Given the description of an element on the screen output the (x, y) to click on. 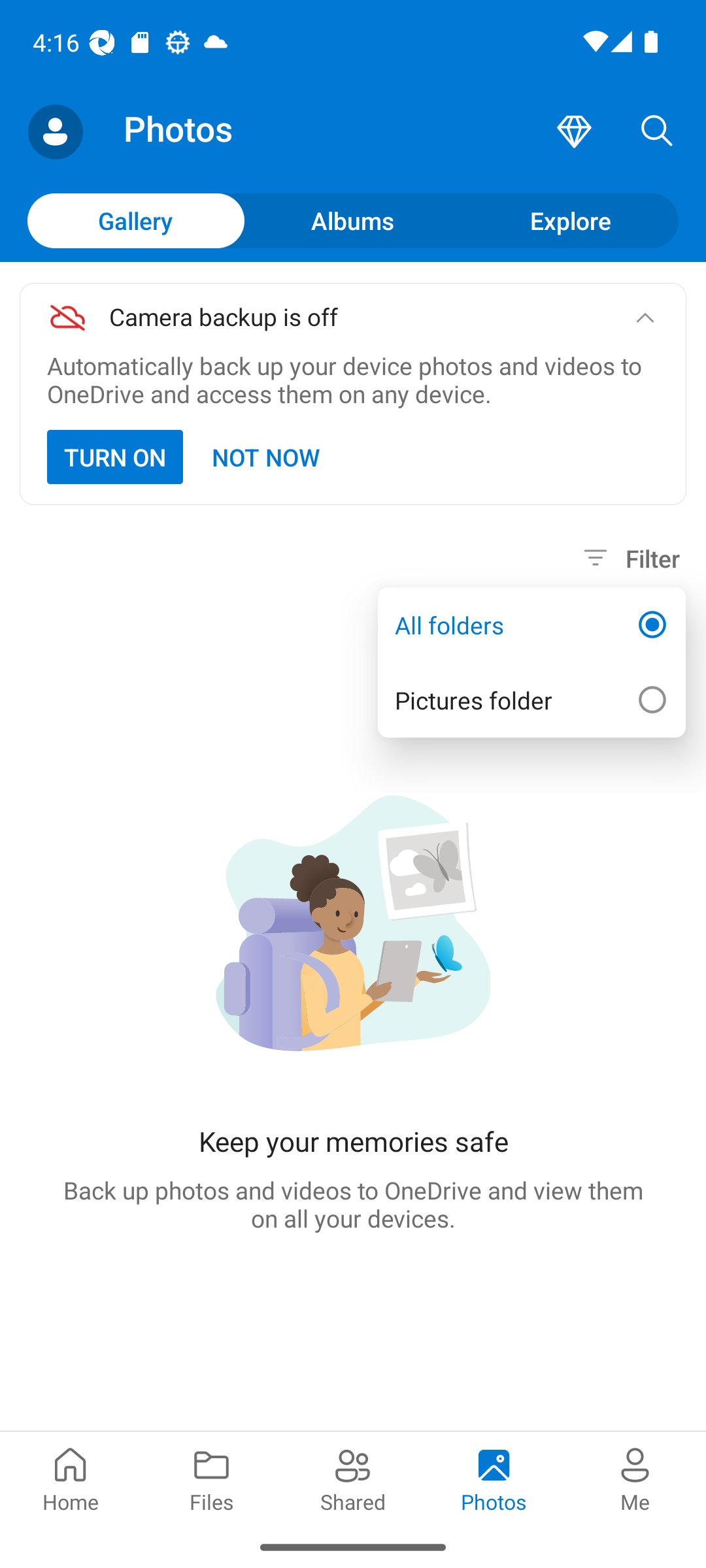
All folders (531, 624)
Pictures folder (531, 698)
